Given the description of an element on the screen output the (x, y) to click on. 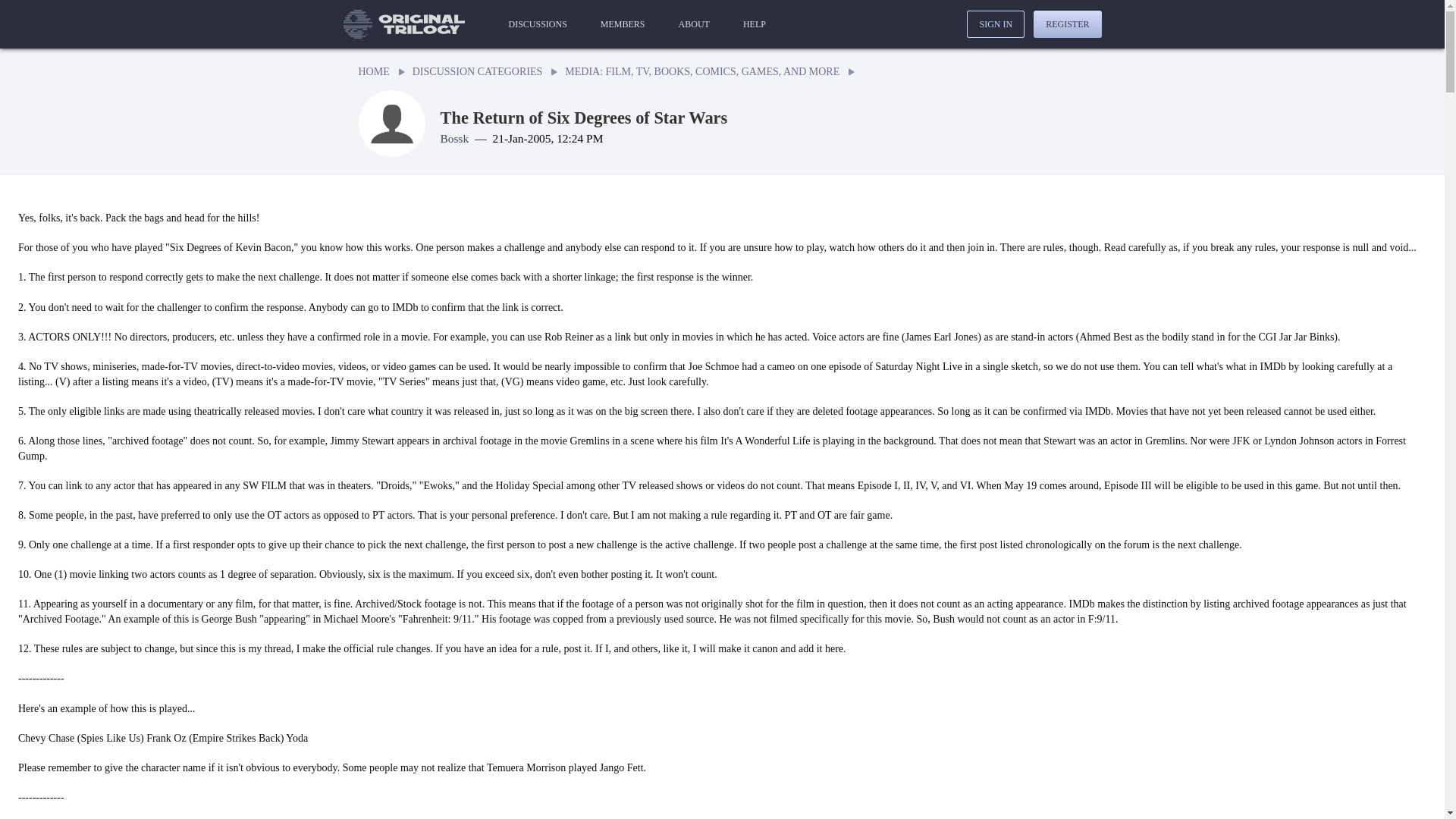
Bossk (453, 137)
ABOUT (694, 24)
Go to our home page. (403, 23)
MEMBERS (622, 24)
HELP (754, 24)
View Bossk's profile. (453, 137)
DISCUSSIONS (536, 24)
HOME (373, 71)
DISCUSSION CATEGORIES (477, 71)
MEDIA: FILM, TV, BOOKS, COMICS, GAMES, AND MORE (702, 71)
